Given the description of an element on the screen output the (x, y) to click on. 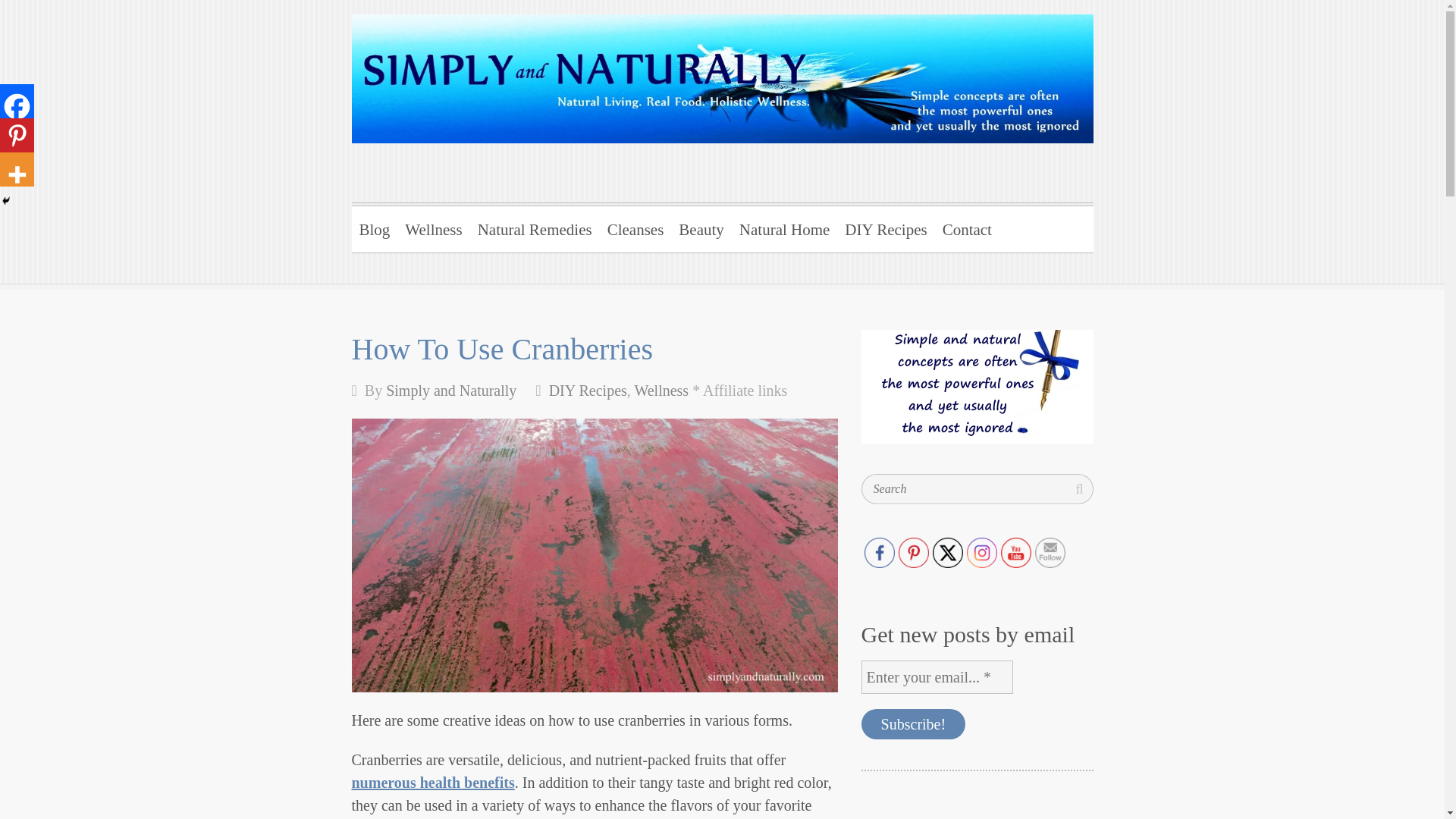
DIY Recipes (587, 390)
Simply and Naturally (548, 78)
Enter your email... (937, 676)
Blog (374, 227)
More (16, 169)
Pinterest (913, 552)
Simply and Naturally (450, 390)
Cleanses (635, 227)
Natural Remedies (534, 227)
Wellness (660, 390)
